Given the description of an element on the screen output the (x, y) to click on. 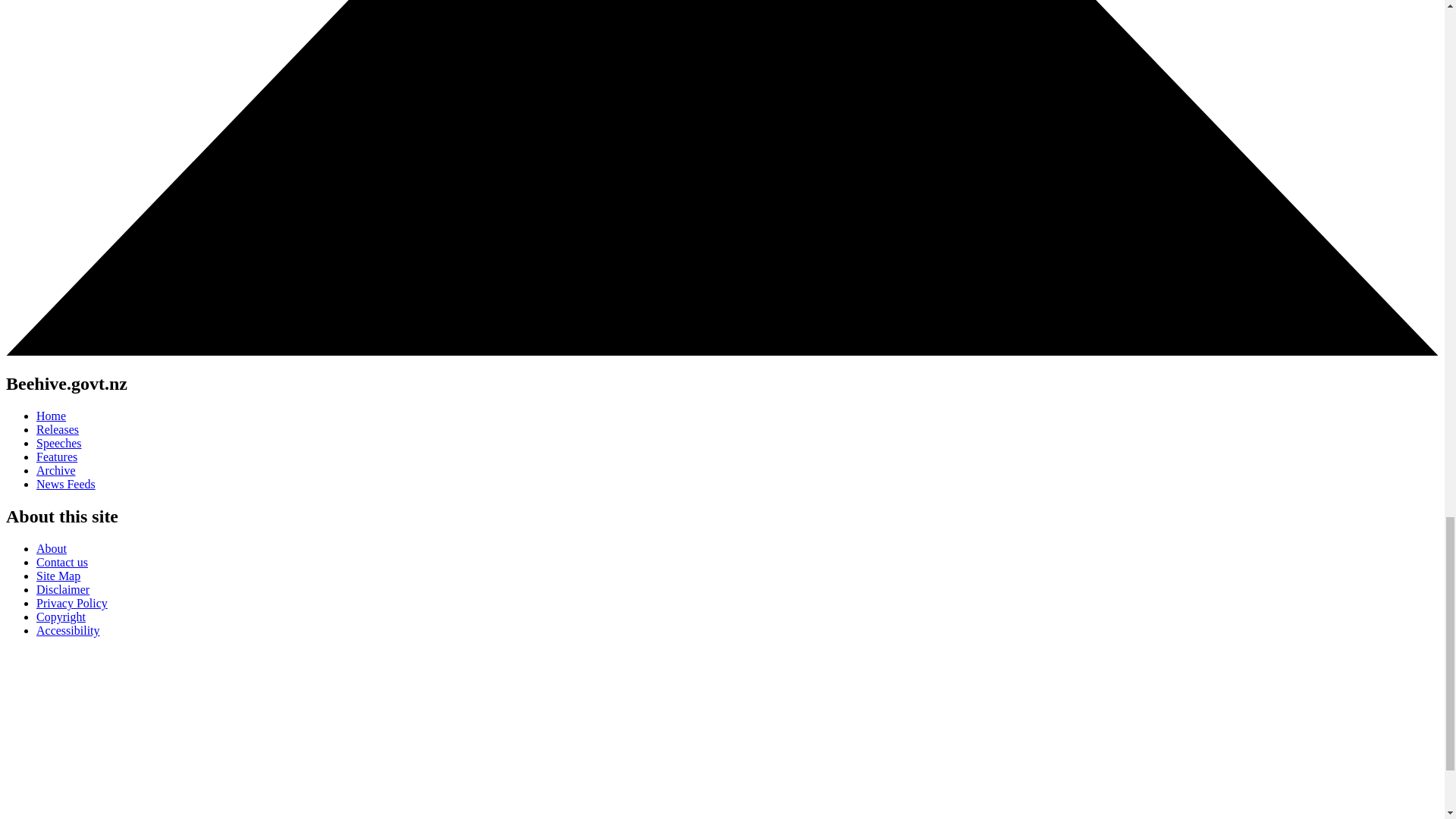
Archive (55, 470)
News Feeds (66, 483)
Releases (57, 429)
Home (50, 415)
Speeches (58, 442)
Privacy Policy (71, 603)
Contact us (61, 562)
Site Map (58, 575)
About (51, 548)
Features (56, 456)
Copyright (60, 616)
Disclaimer (62, 589)
